Given the description of an element on the screen output the (x, y) to click on. 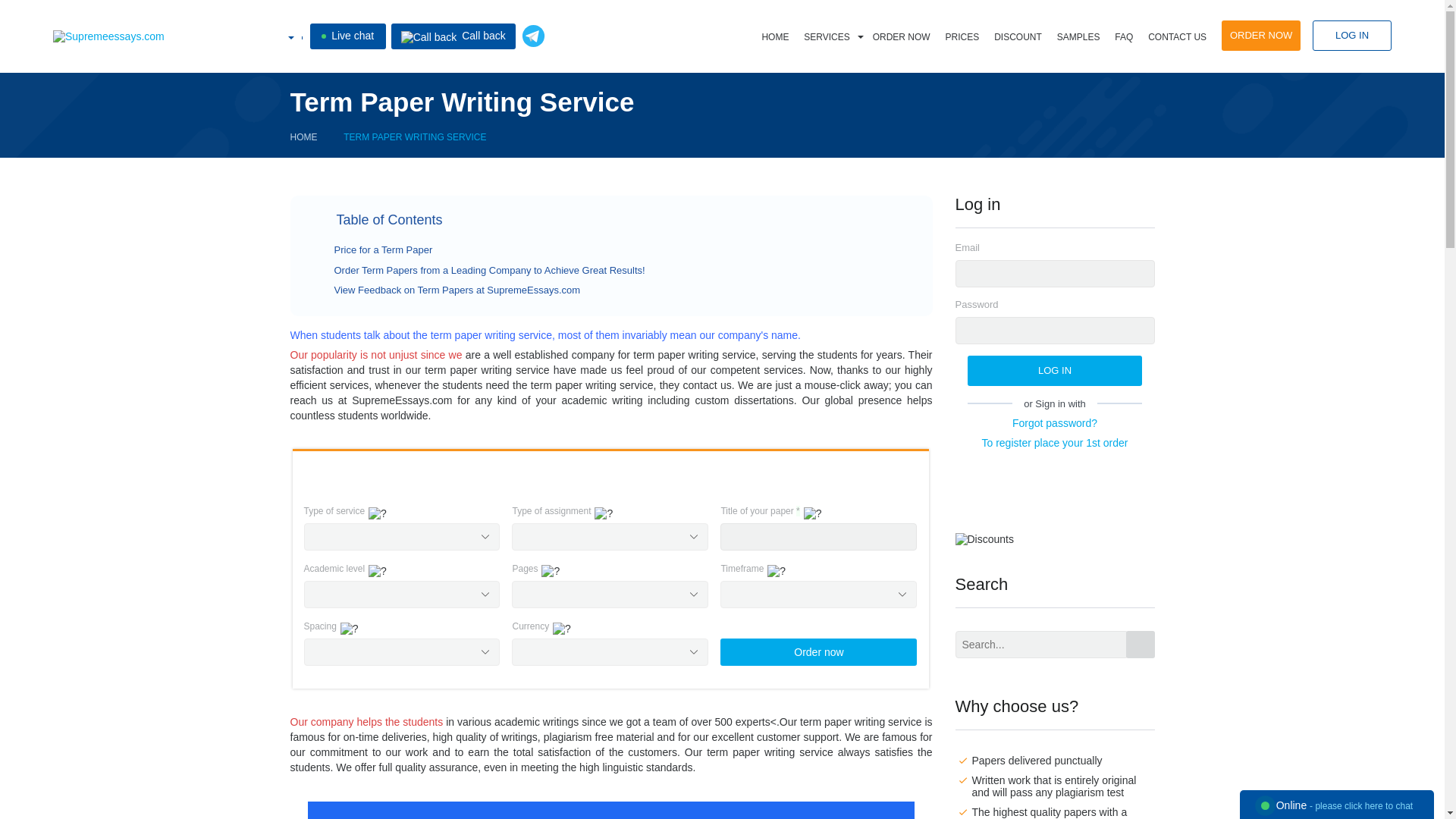
Price for a Term Paper (382, 249)
CONTACT US (1176, 36)
FAQ (1123, 36)
PRICES (962, 36)
Discounts (984, 539)
SAMPLES (1078, 36)
HOME (774, 36)
HOME (303, 136)
DISCOUNT (1018, 36)
